Given the description of an element on the screen output the (x, y) to click on. 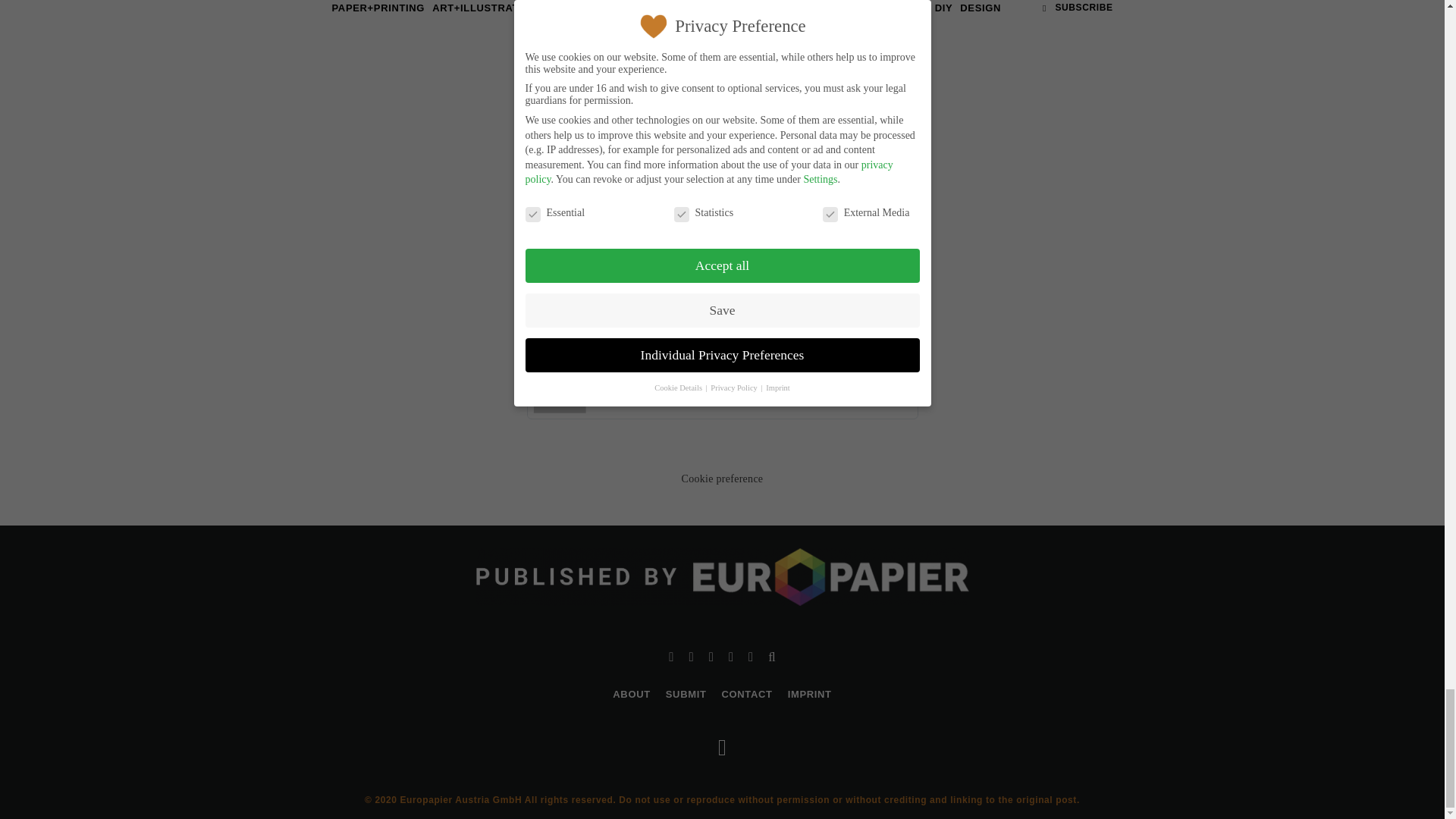
1 (660, 302)
